Given the description of an element on the screen output the (x, y) to click on. 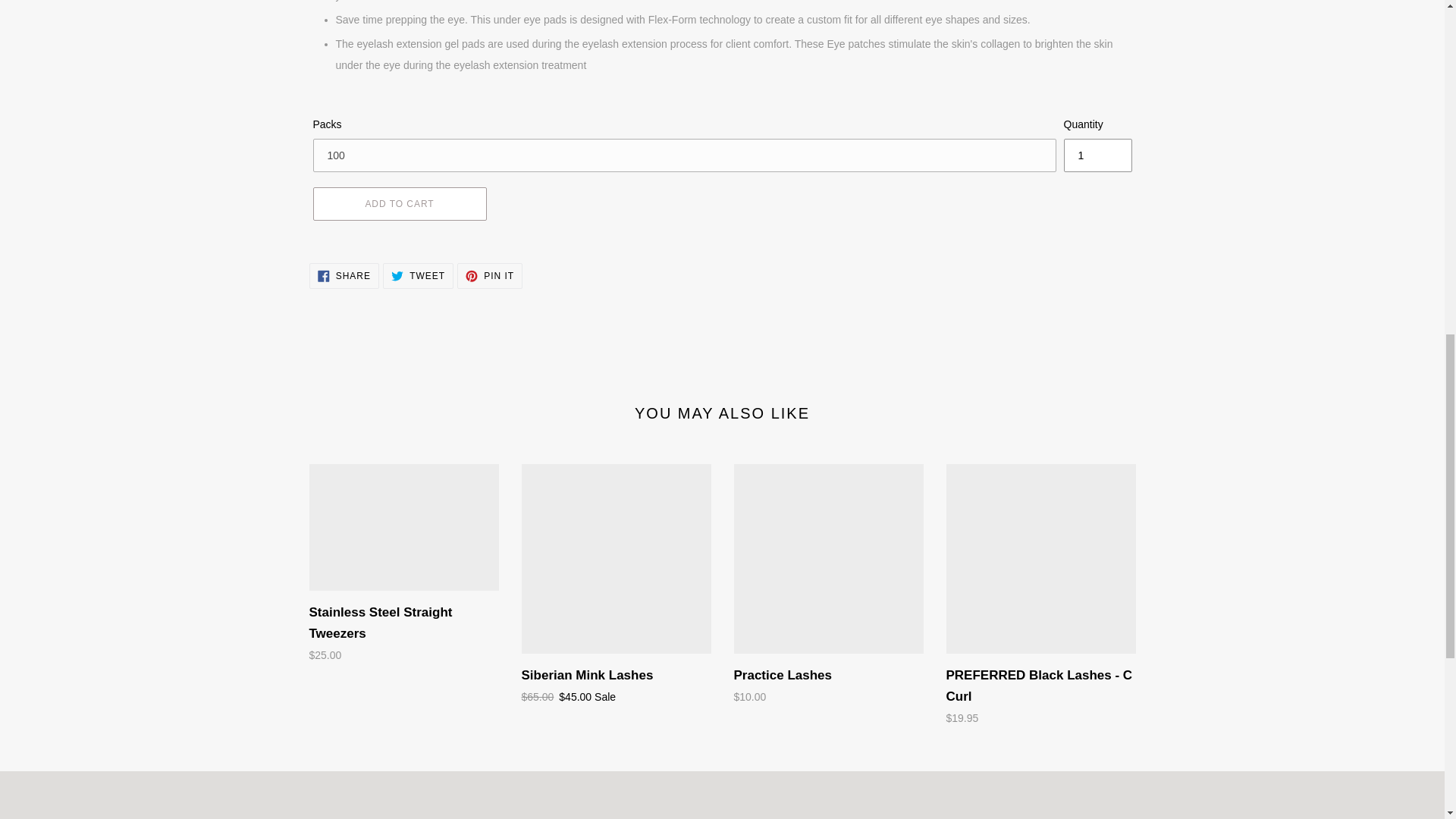
Stainless Steel Straight Tweezers (417, 275)
ADD TO CART (403, 564)
1 (399, 203)
